Given the description of an element on the screen output the (x, y) to click on. 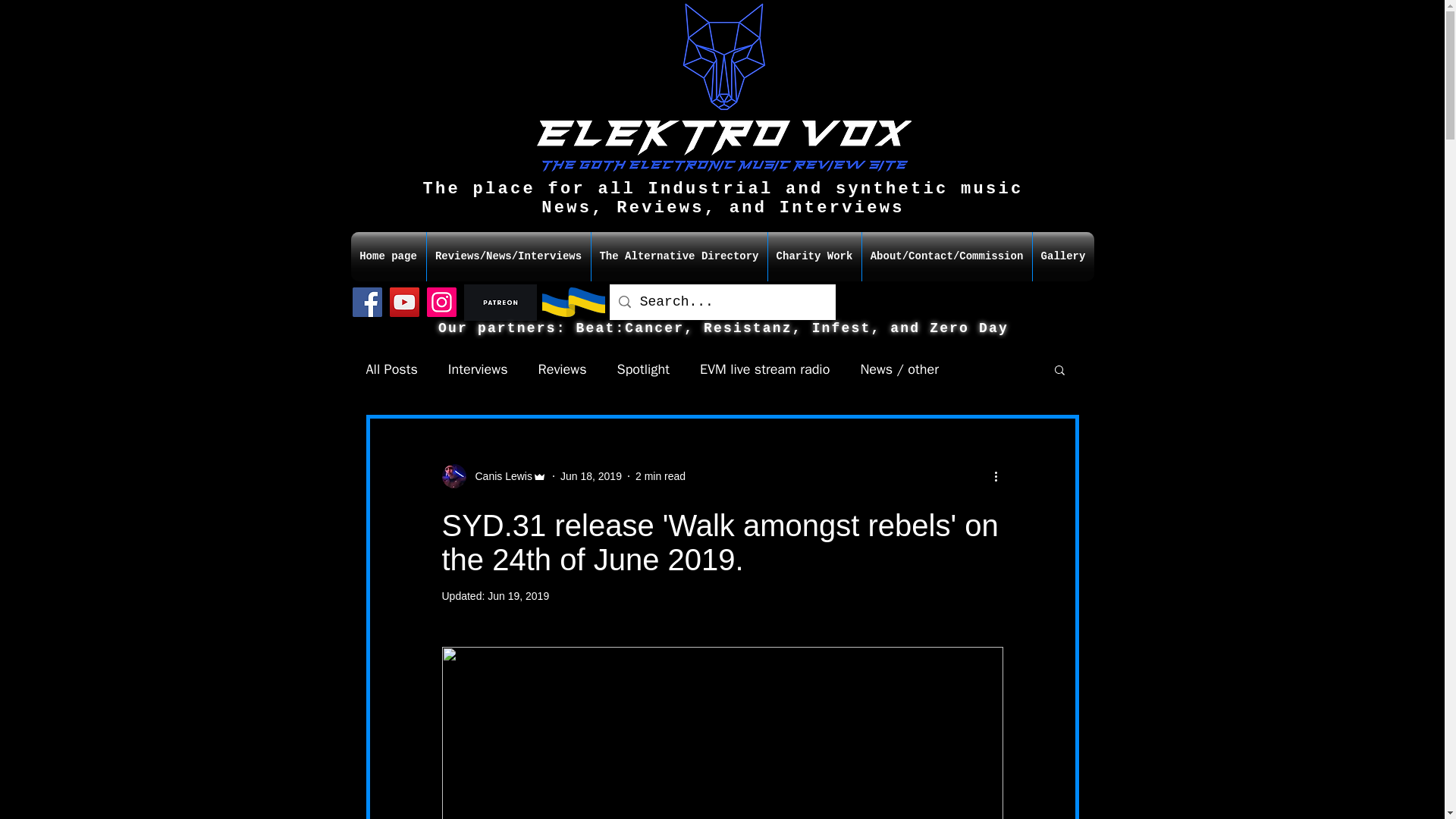
Canis Lewis (493, 476)
Interviews (478, 369)
Gallery (1063, 256)
Canis Lewis (498, 476)
Reviews (562, 369)
EVM live stream radio (764, 369)
Spotlight (643, 369)
The Alternative Directory (679, 256)
2 min read (659, 476)
Jun 18, 2019 (590, 476)
Home page (387, 256)
Jun 19, 2019 (517, 595)
All Posts (390, 369)
Charity Work (813, 256)
